Given the description of an element on the screen output the (x, y) to click on. 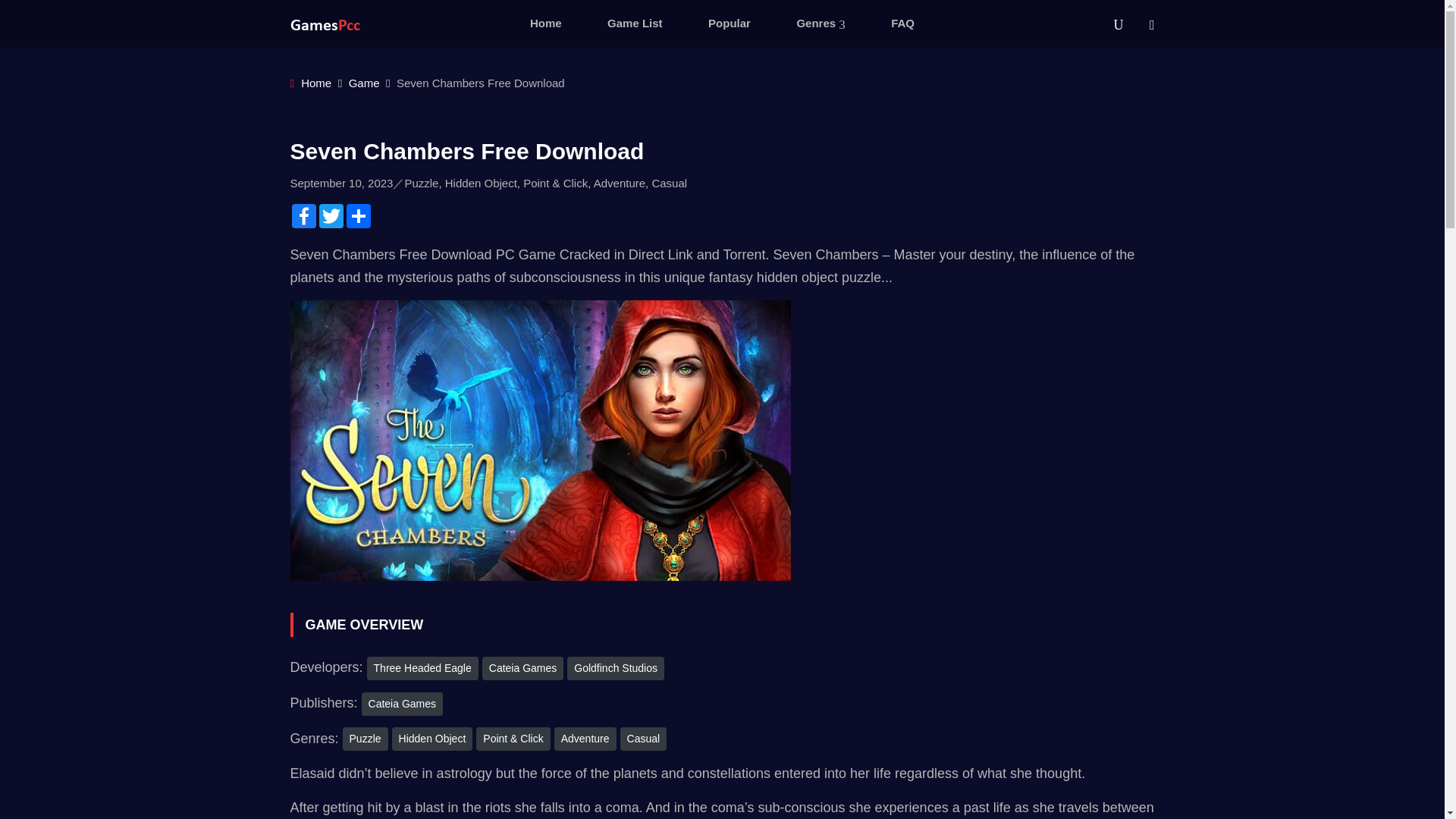
Share (357, 215)
Facebook (303, 215)
Home (310, 82)
Twitter (330, 215)
Game List (635, 23)
Cateia Games (522, 668)
Genres (820, 23)
Popular (729, 23)
Home (545, 23)
Game (364, 82)
FAQ (903, 23)
Three Headed Eagle (422, 668)
